Given the description of an element on the screen output the (x, y) to click on. 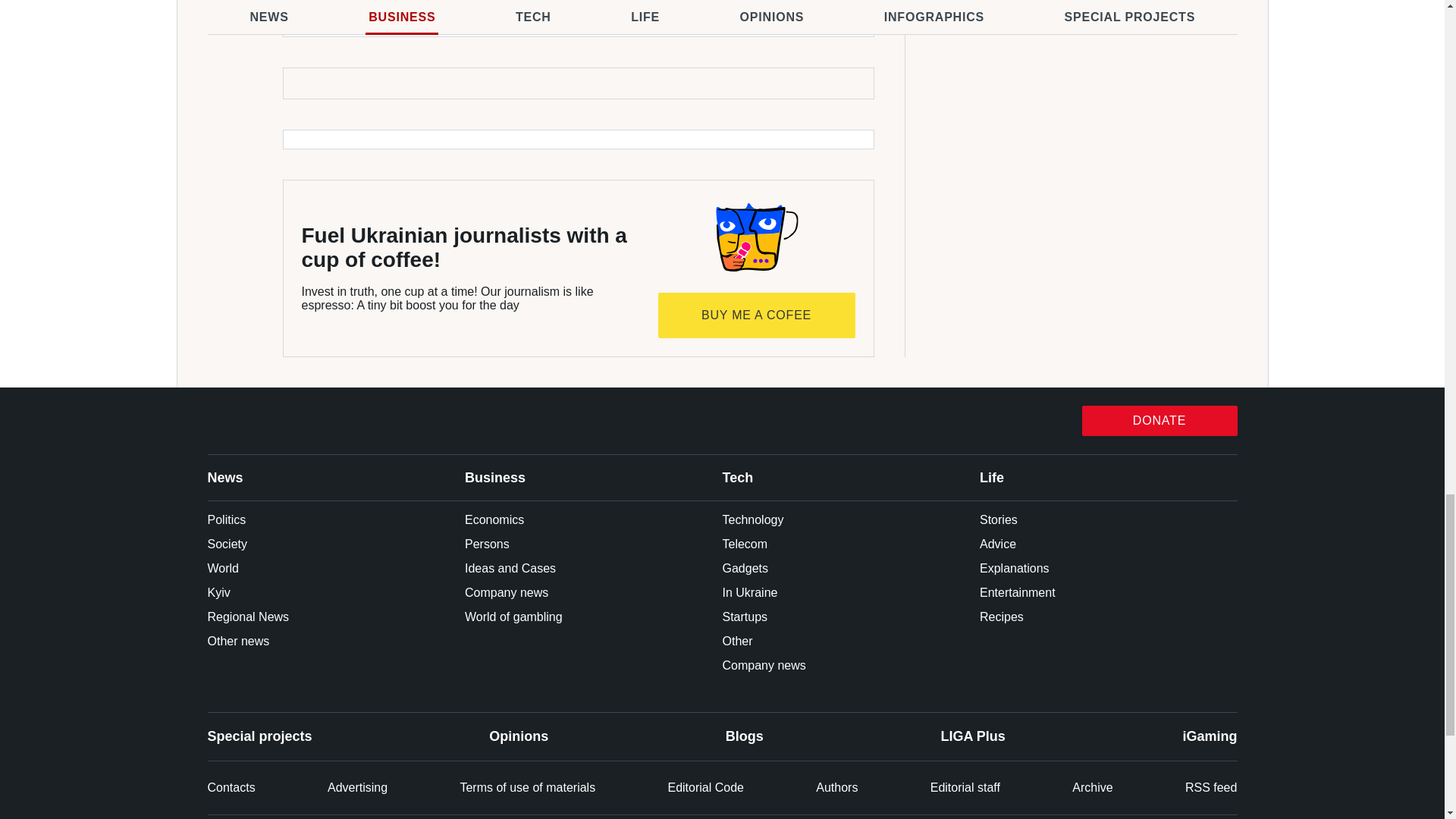
BUY ME A COFEE (757, 315)
